Given the description of an element on the screen output the (x, y) to click on. 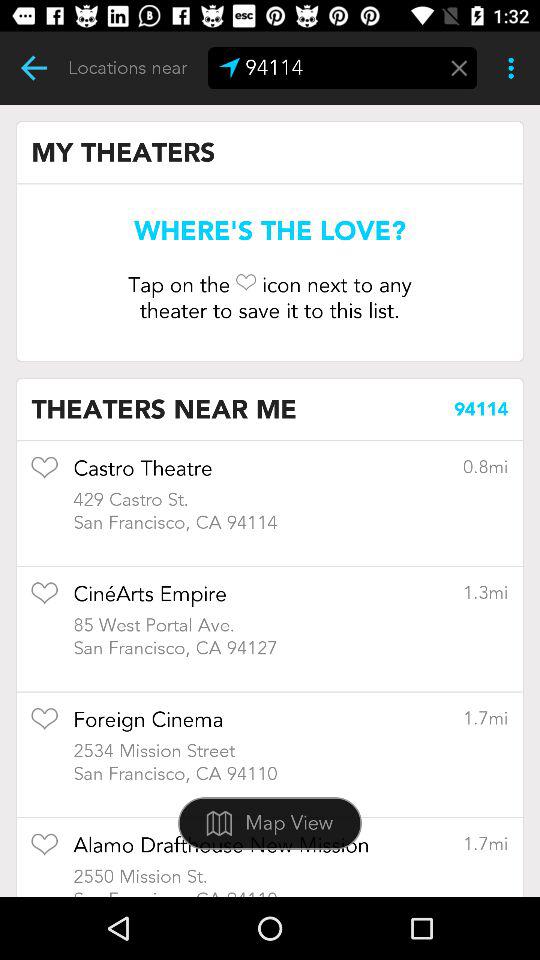
like icon (44, 599)
